Given the description of an element on the screen output the (x, y) to click on. 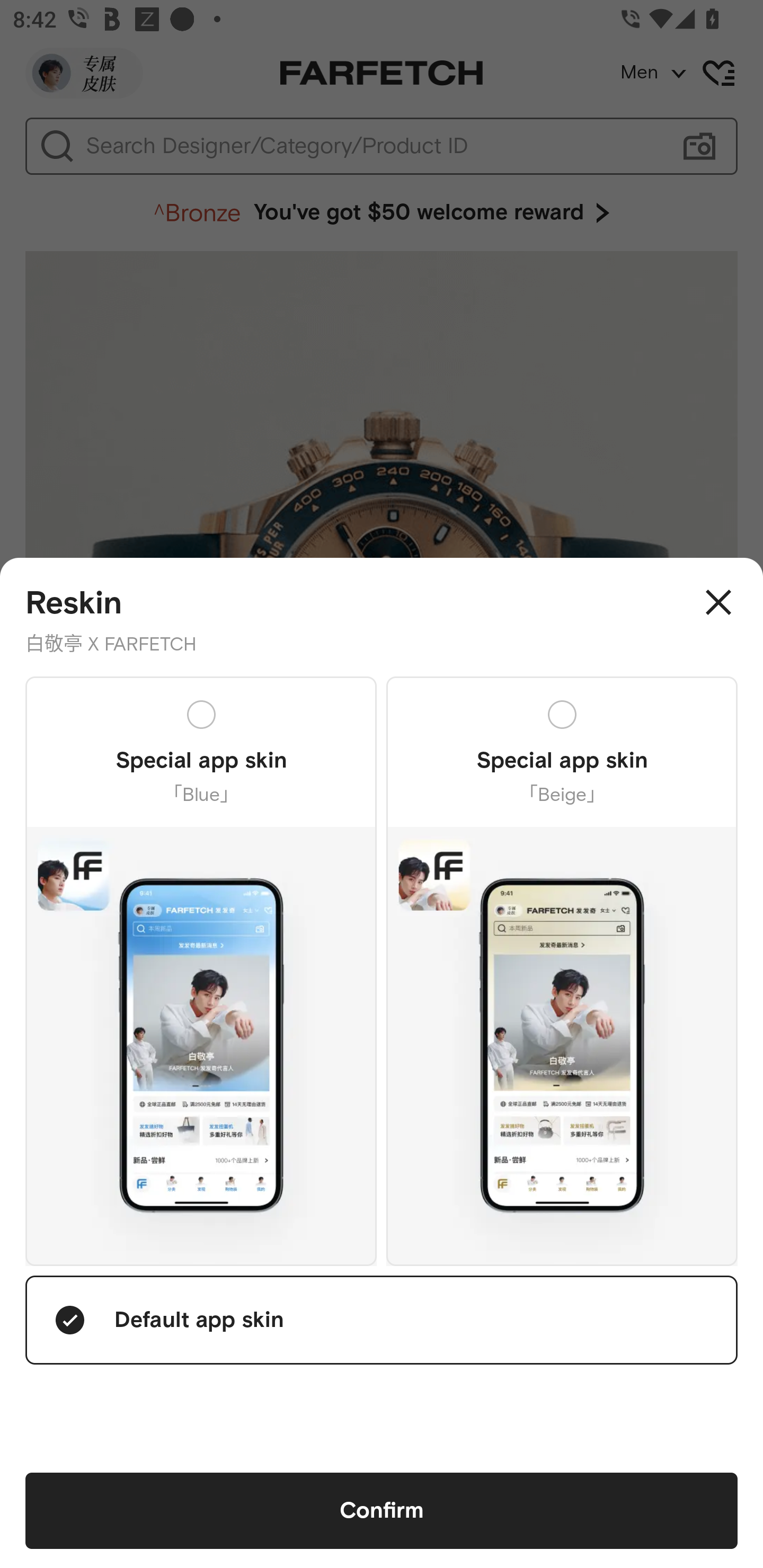
Special app skin 「Blue」 (200, 970)
Special app skin 「Beige」 (561, 970)
Default app skin (381, 1320)
Confirm (381, 1510)
